Given the description of an element on the screen output the (x, y) to click on. 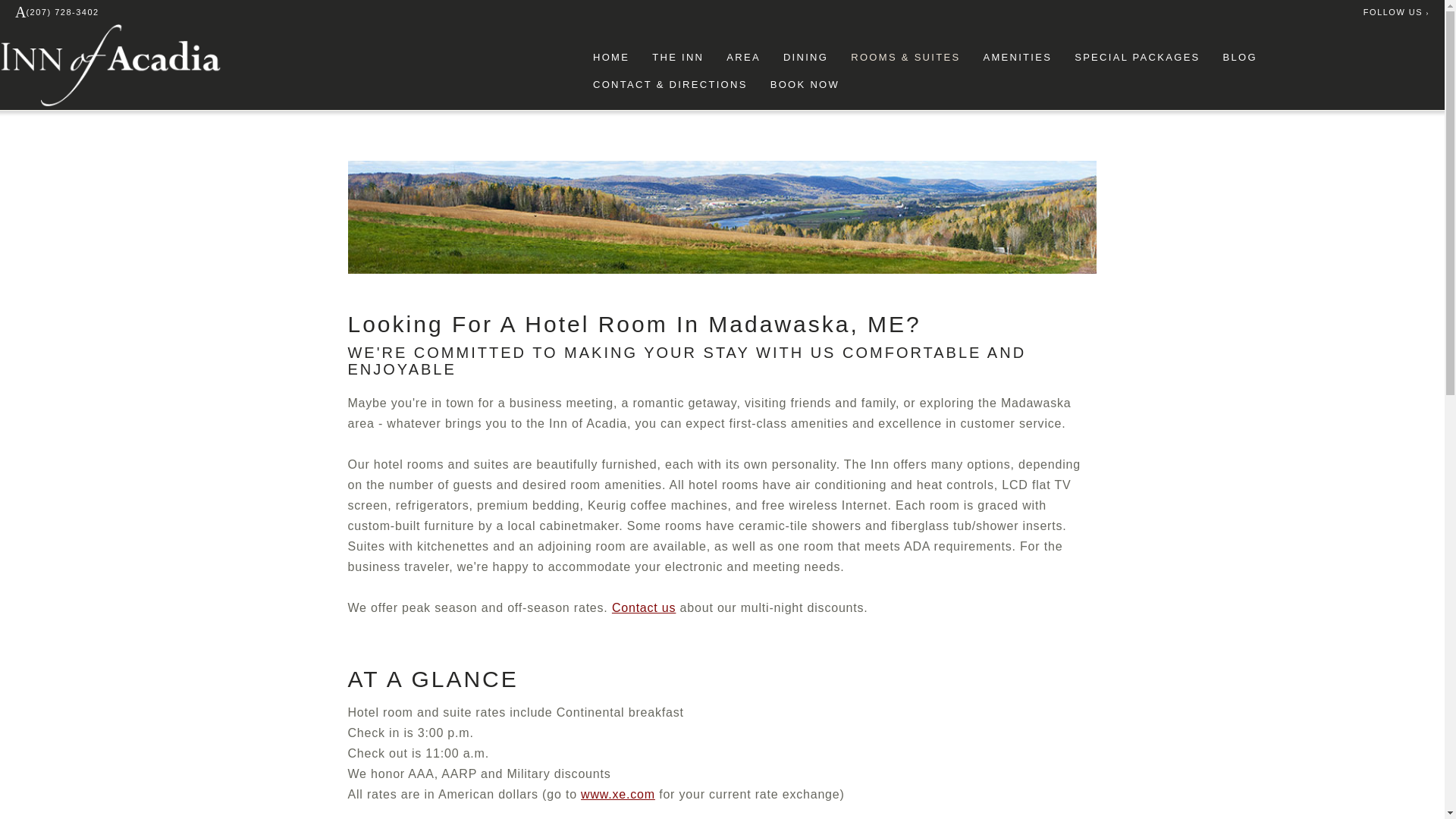
BLOG (1240, 57)
AREA (743, 57)
DINING (805, 57)
HOME (610, 57)
AMENITIES (1016, 57)
THE INN (677, 57)
SPECIAL PACKAGES (1136, 57)
www.xe.com (617, 793)
Contact us (644, 607)
BOOK NOW (805, 85)
AT A GLANCE (432, 678)
